Given the description of an element on the screen output the (x, y) to click on. 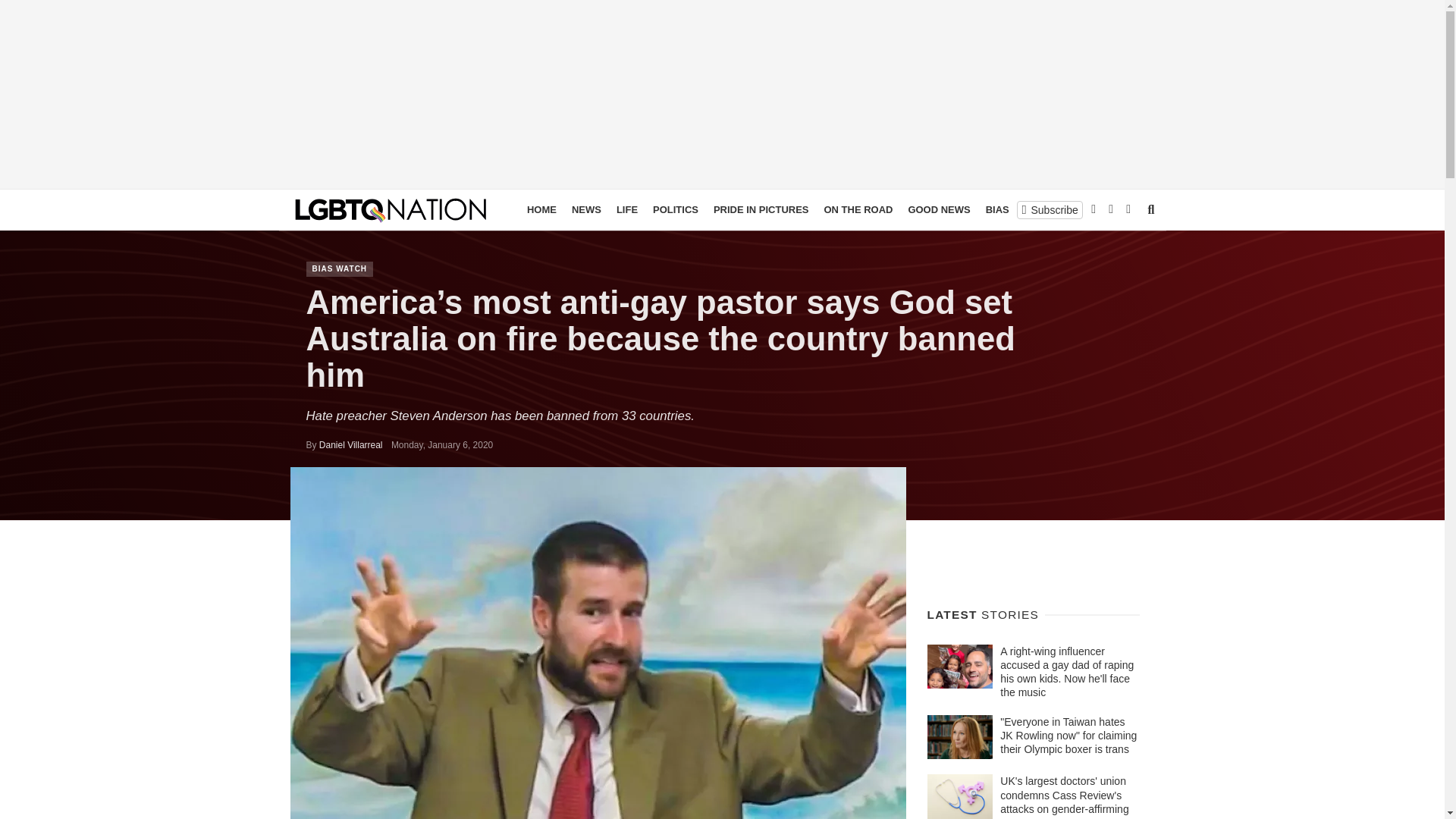
HOME (541, 209)
Posts by Daniel Villarreal (350, 444)
NEWS (586, 209)
PRIDE IN PICTURES (761, 209)
Daniel Villarreal (350, 444)
ON THE ROAD (857, 209)
LIFE (626, 209)
BIAS WATCH (339, 268)
POLITICS (675, 209)
Monday, January 6, 2020 am31 11:29:06 (442, 444)
GOOD NEWS (937, 209)
COMMENTARY (1097, 209)
BIAS WATCH (1016, 209)
Subscribe (1049, 209)
